Given the description of an element on the screen output the (x, y) to click on. 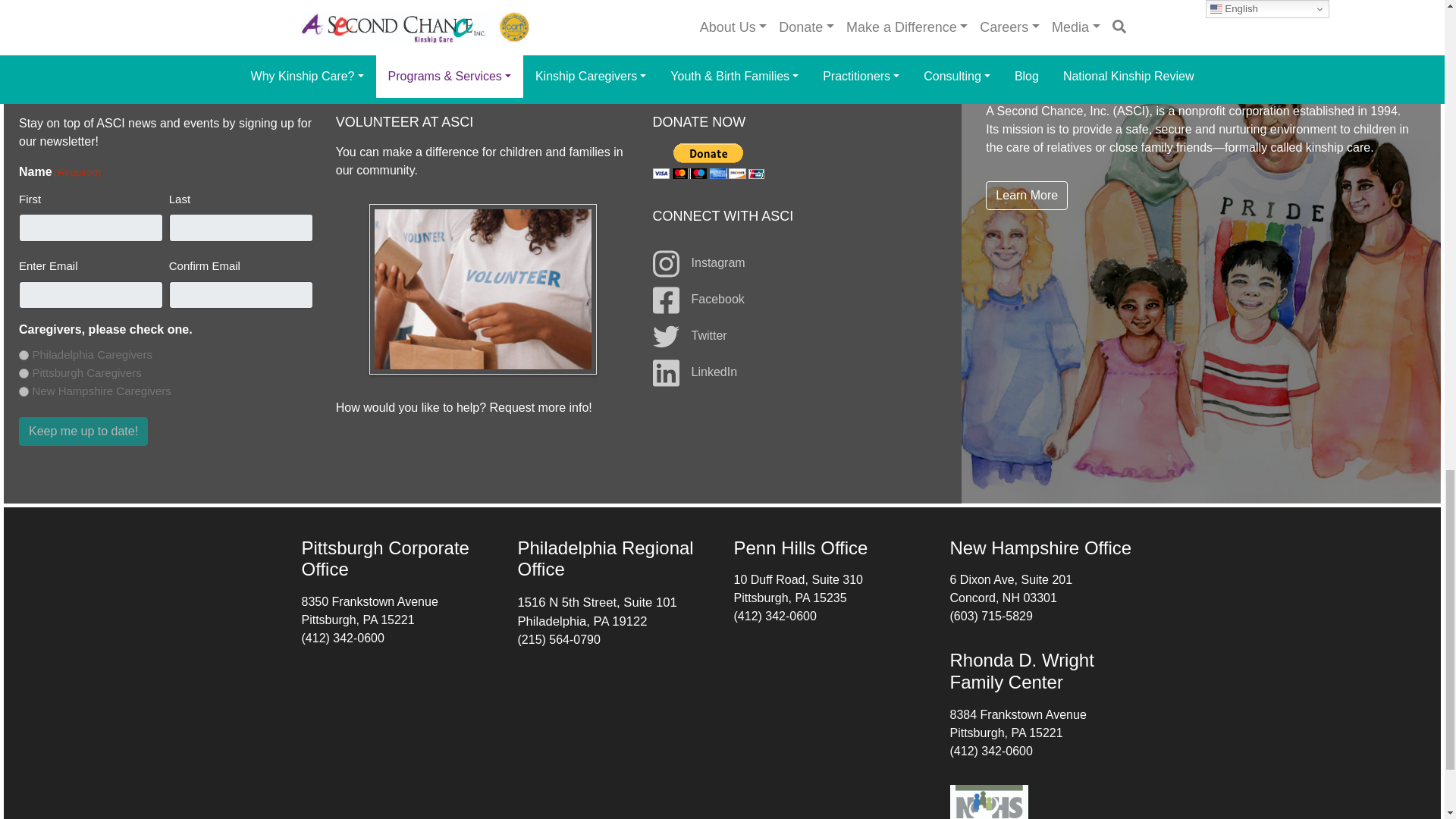
New Hampshire Caregivers (23, 391)
Keep me up to date! (83, 430)
Pittsburgh Caregivers (23, 373)
Philadelphia Caregivers (23, 355)
